Given the description of an element on the screen output the (x, y) to click on. 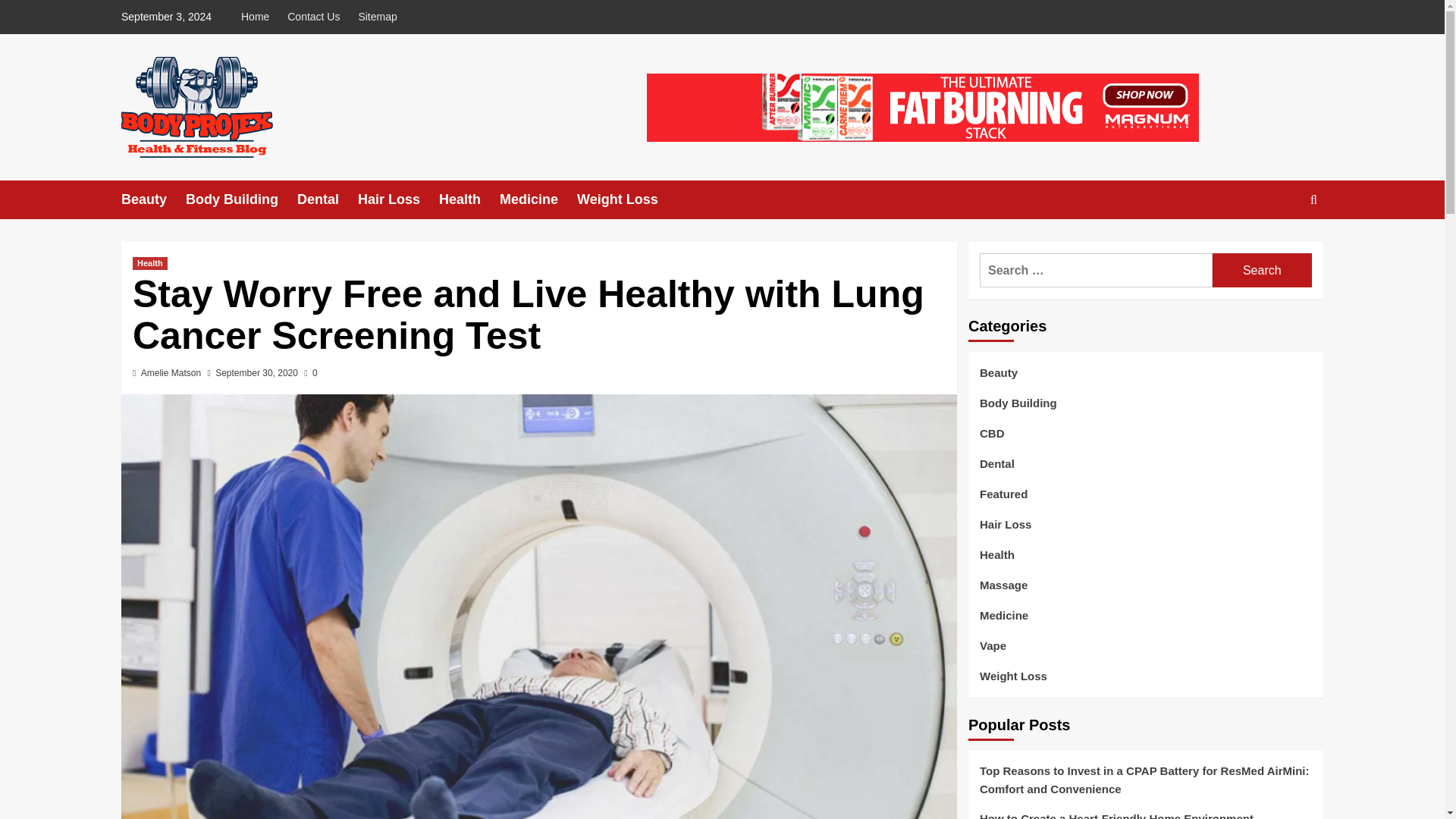
Weight Loss (626, 199)
Dental (327, 199)
Home (258, 17)
Health (149, 263)
Health (469, 199)
0 (310, 372)
Beauty (153, 199)
Search (1261, 270)
Search (1261, 270)
Search (1278, 245)
